Given the description of an element on the screen output the (x, y) to click on. 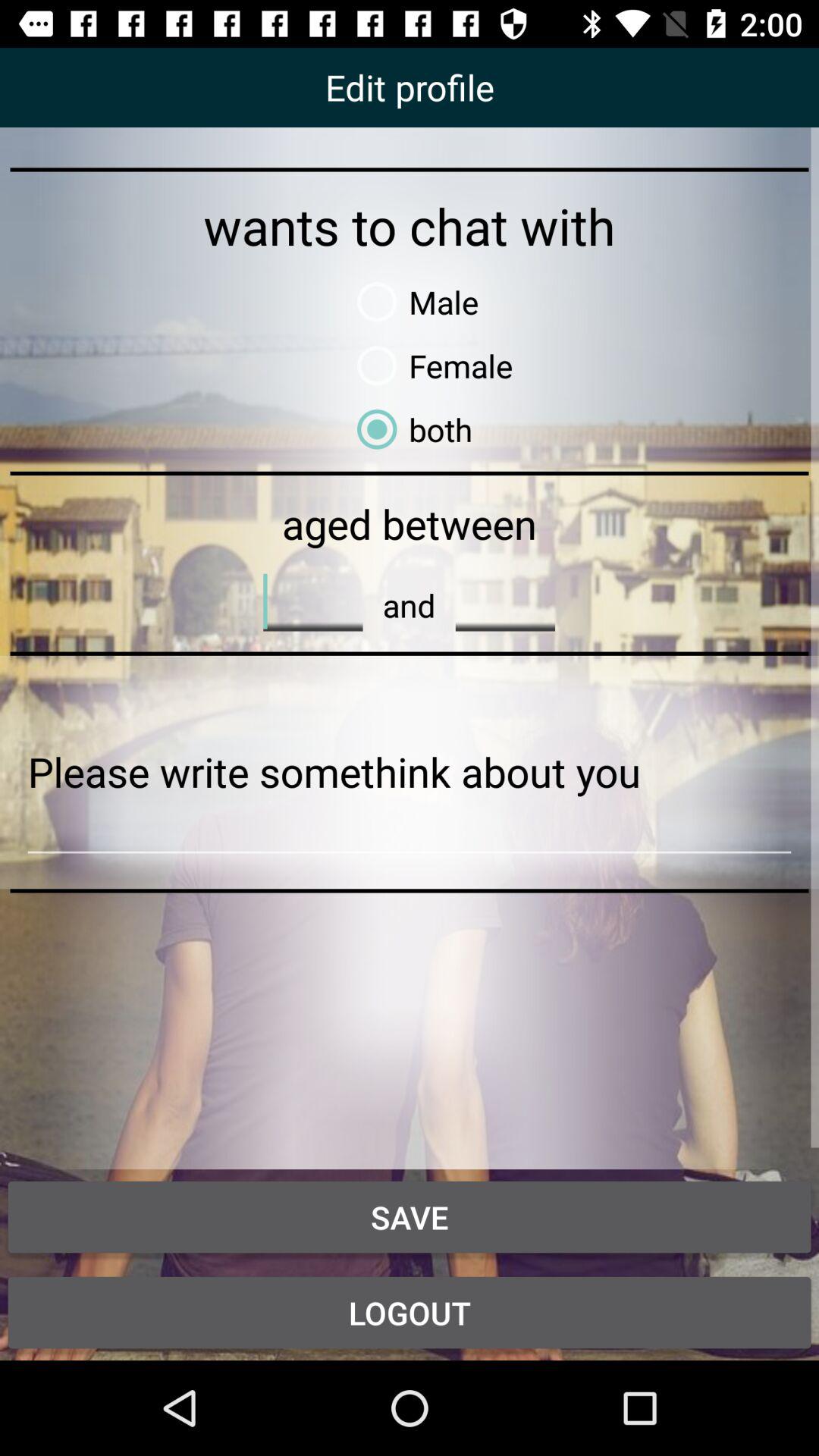
write the lowest age you want to chat with (312, 601)
